Given the description of an element on the screen output the (x, y) to click on. 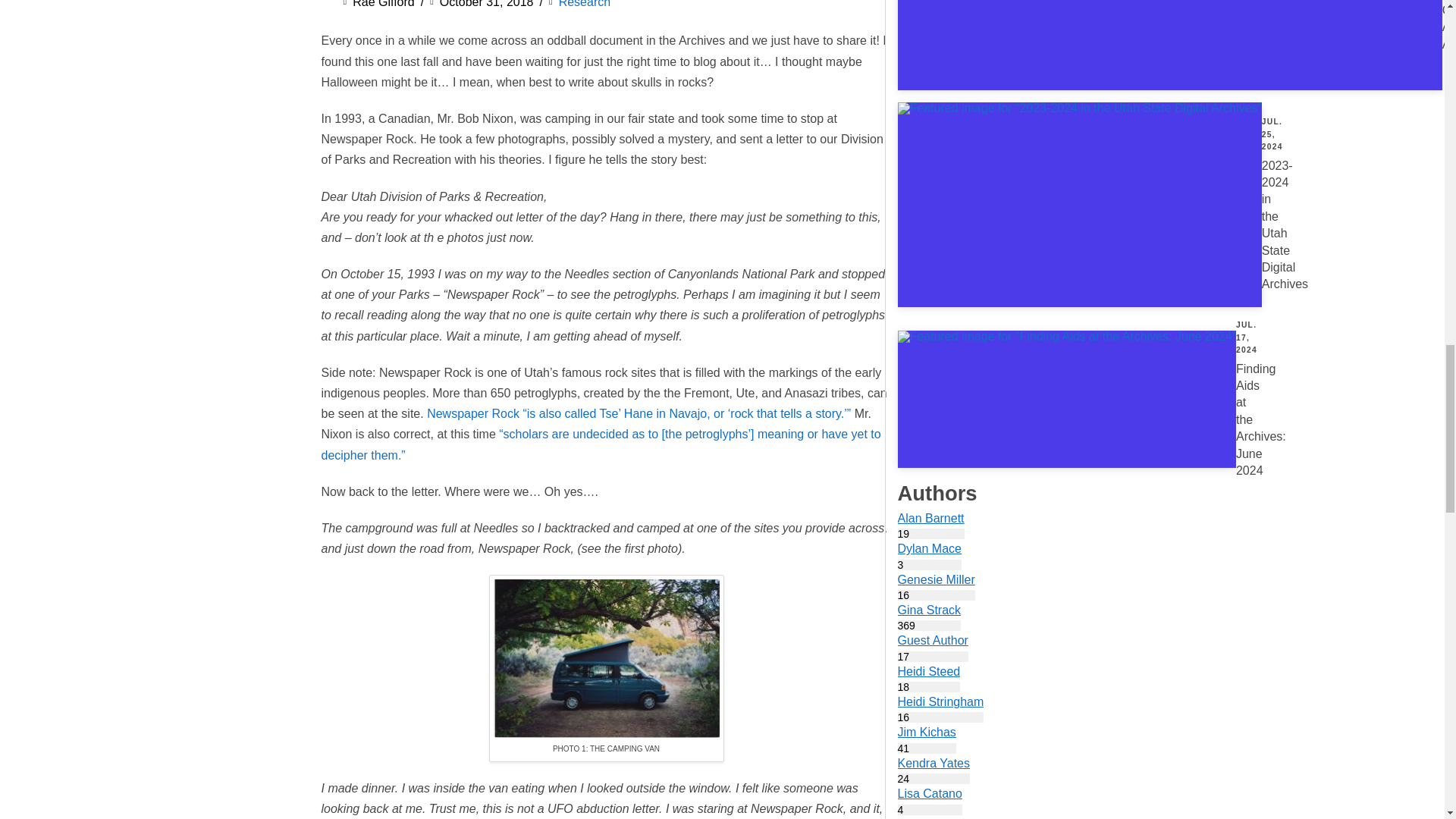
Research (929, 676)
